Given the description of an element on the screen output the (x, y) to click on. 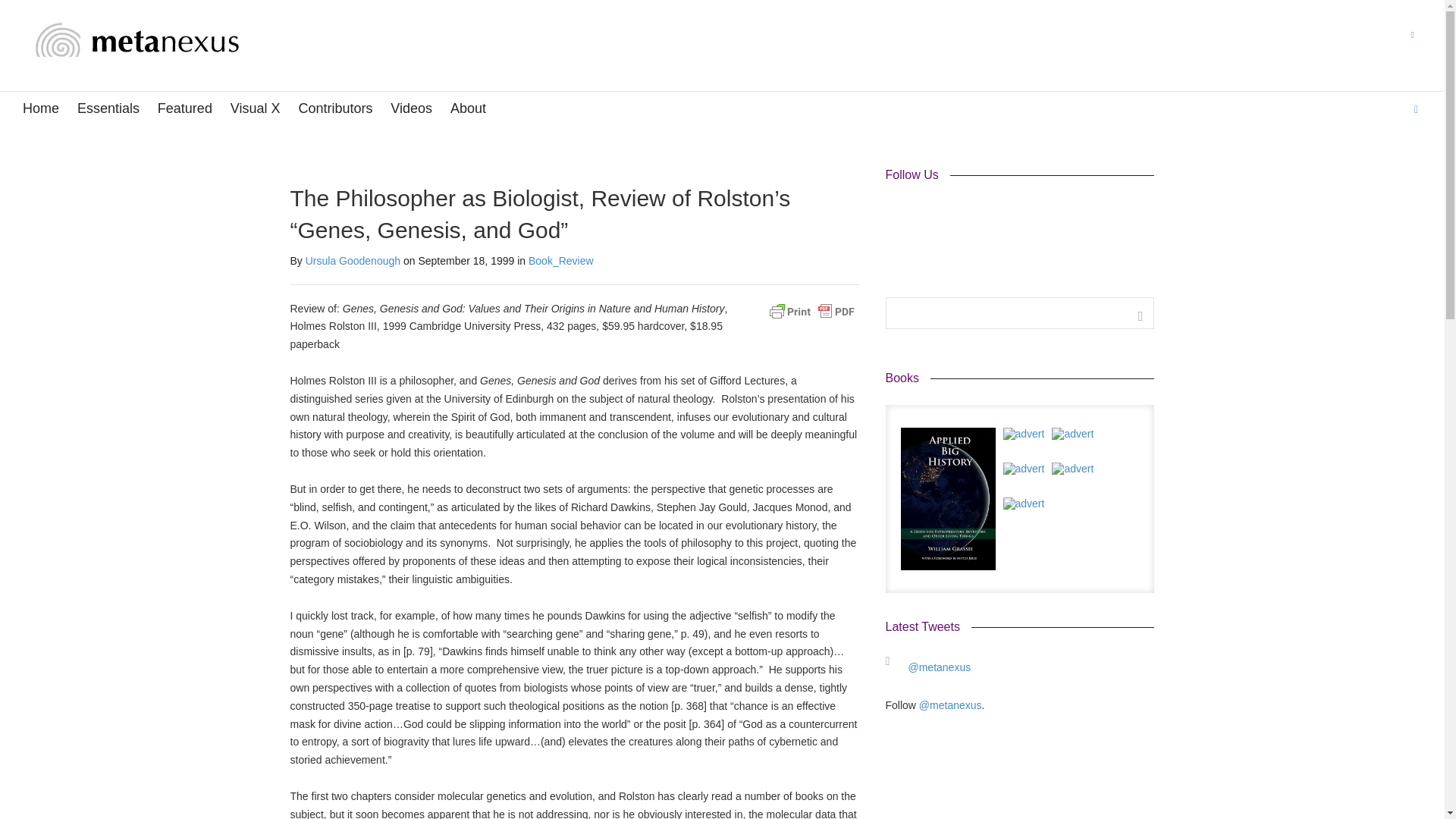
Visual X (255, 109)
Home (41, 109)
Featured (184, 109)
Facebook (897, 213)
Ursula Goodenough (352, 260)
About (467, 109)
Videos (411, 109)
Contributors (335, 109)
Google (978, 213)
Twitter (924, 213)
LinkedIn (951, 213)
Essentials (108, 109)
